Given the description of an element on the screen output the (x, y) to click on. 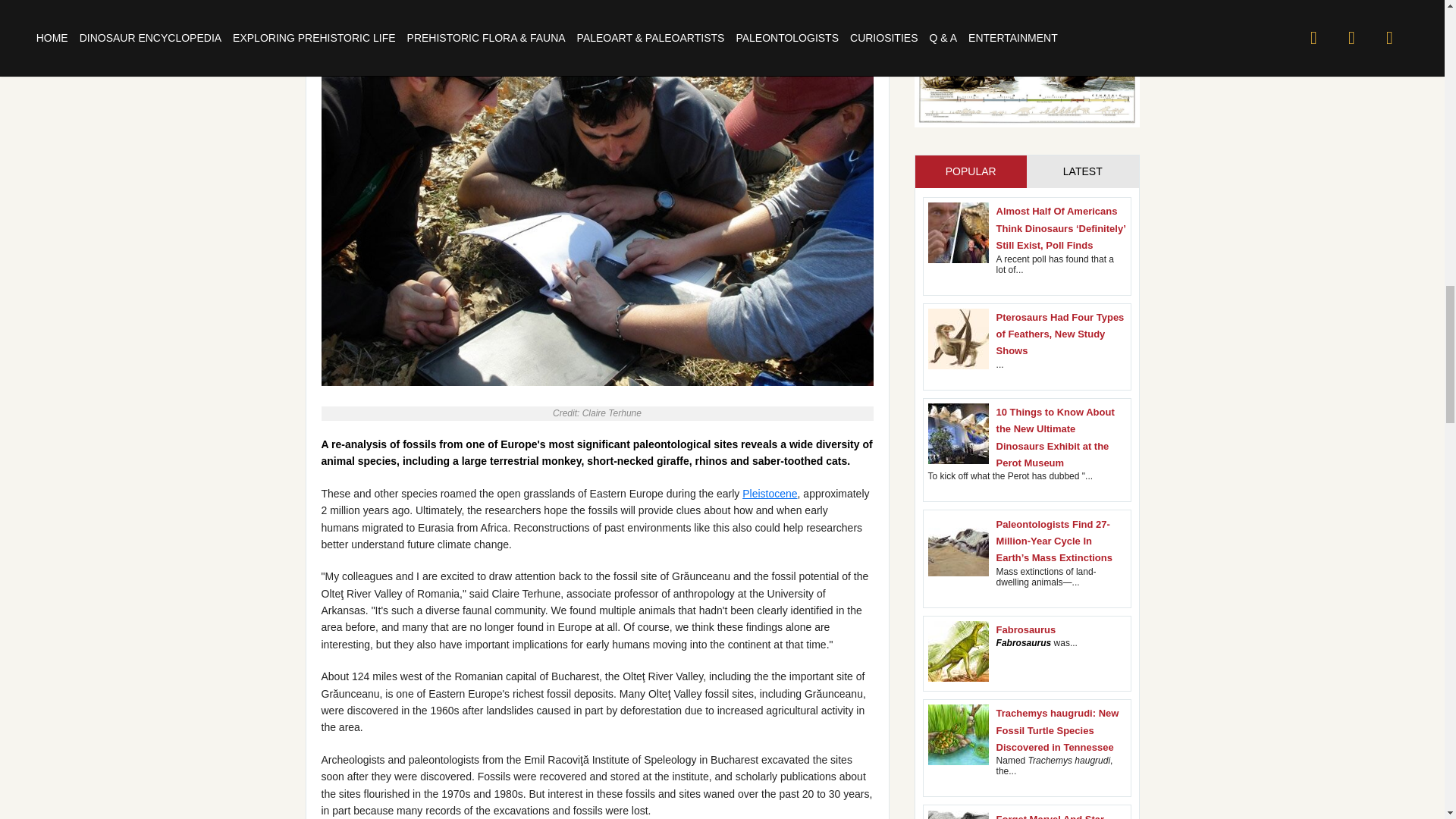
Pleistocene (769, 493)
LATEST (1082, 171)
Pterosaurs Had Four Types of Feathers, New Study Shows (1059, 334)
